Given the description of an element on the screen output the (x, y) to click on. 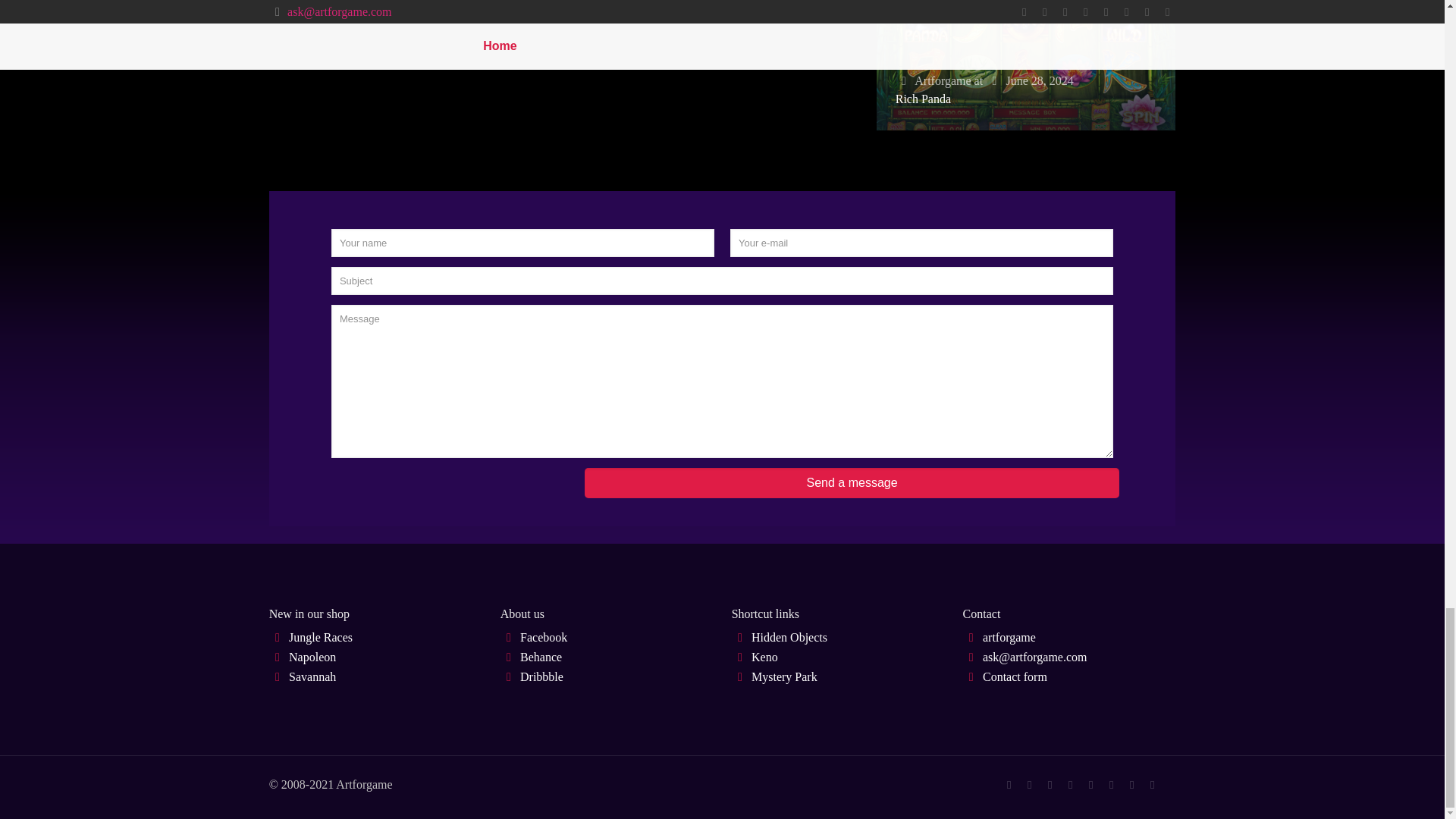
Send a message (852, 482)
